Given the description of an element on the screen output the (x, y) to click on. 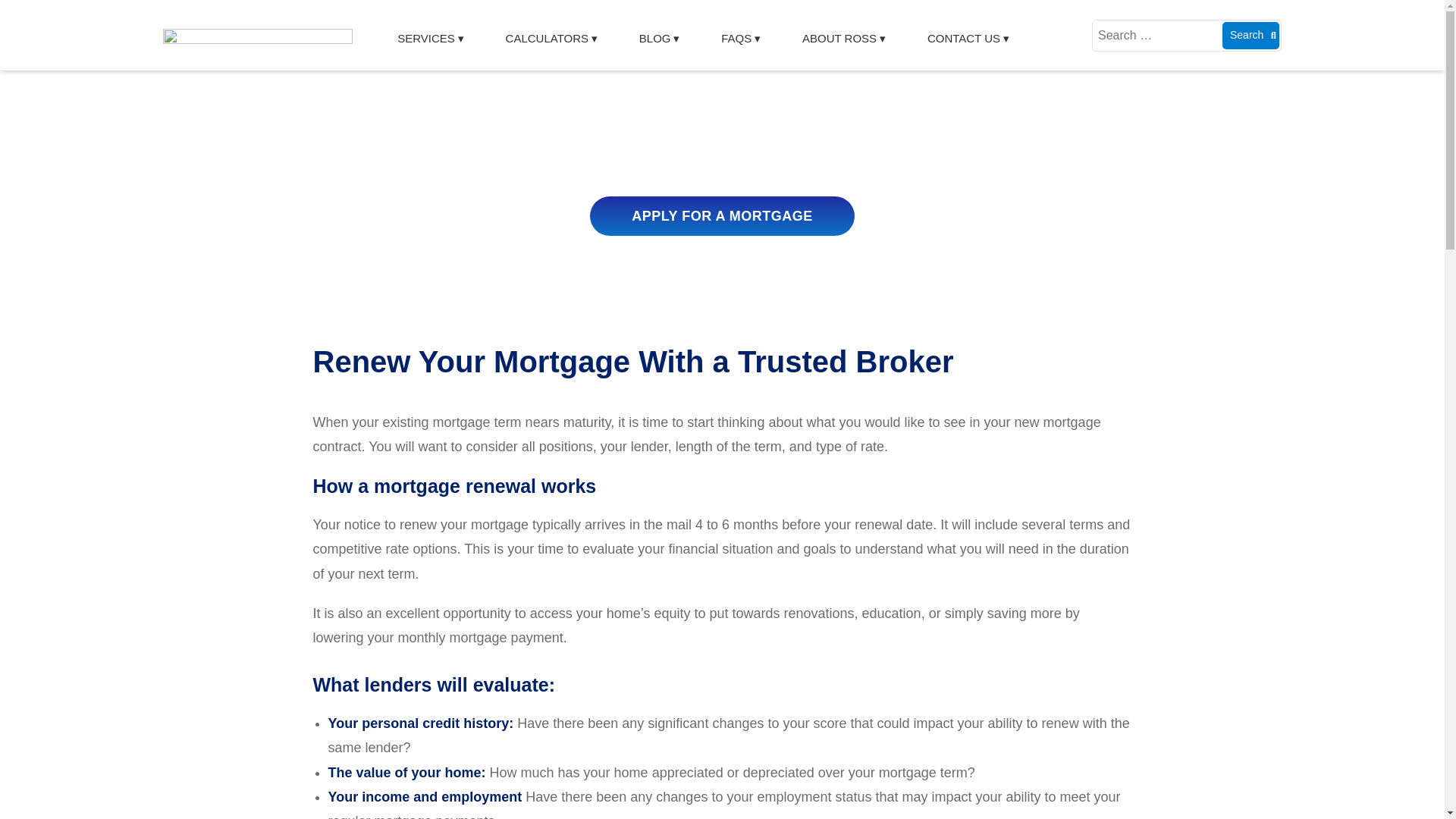
CALCULATORS (551, 38)
FAQS (740, 38)
Search (1251, 34)
Search (1251, 34)
SERVICES (429, 38)
BLOG (658, 38)
home (257, 33)
Search (1251, 34)
